Given the description of an element on the screen output the (x, y) to click on. 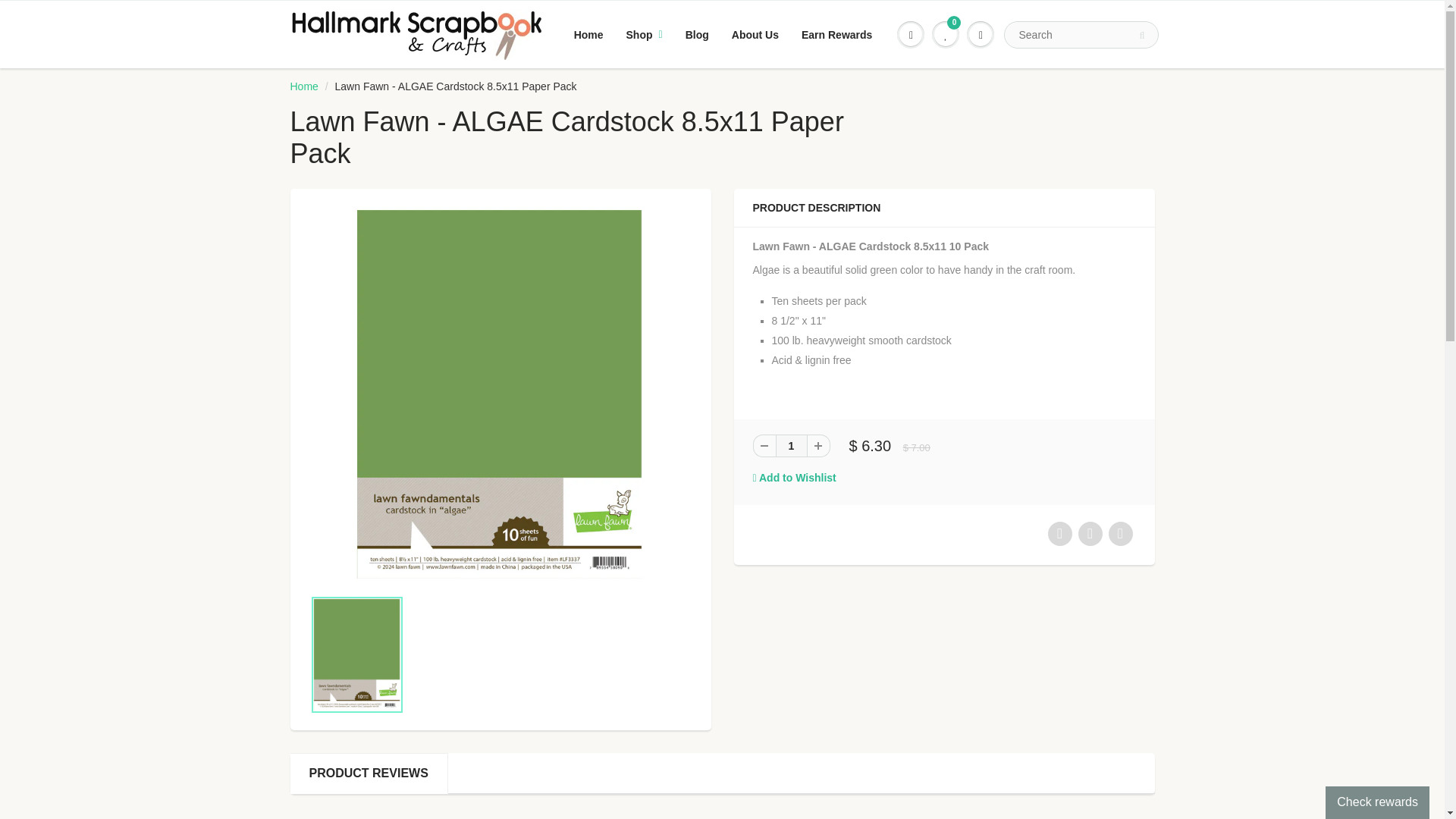
Shop (644, 34)
Home (588, 34)
1 (790, 445)
Home (303, 86)
